Given the description of an element on the screen output the (x, y) to click on. 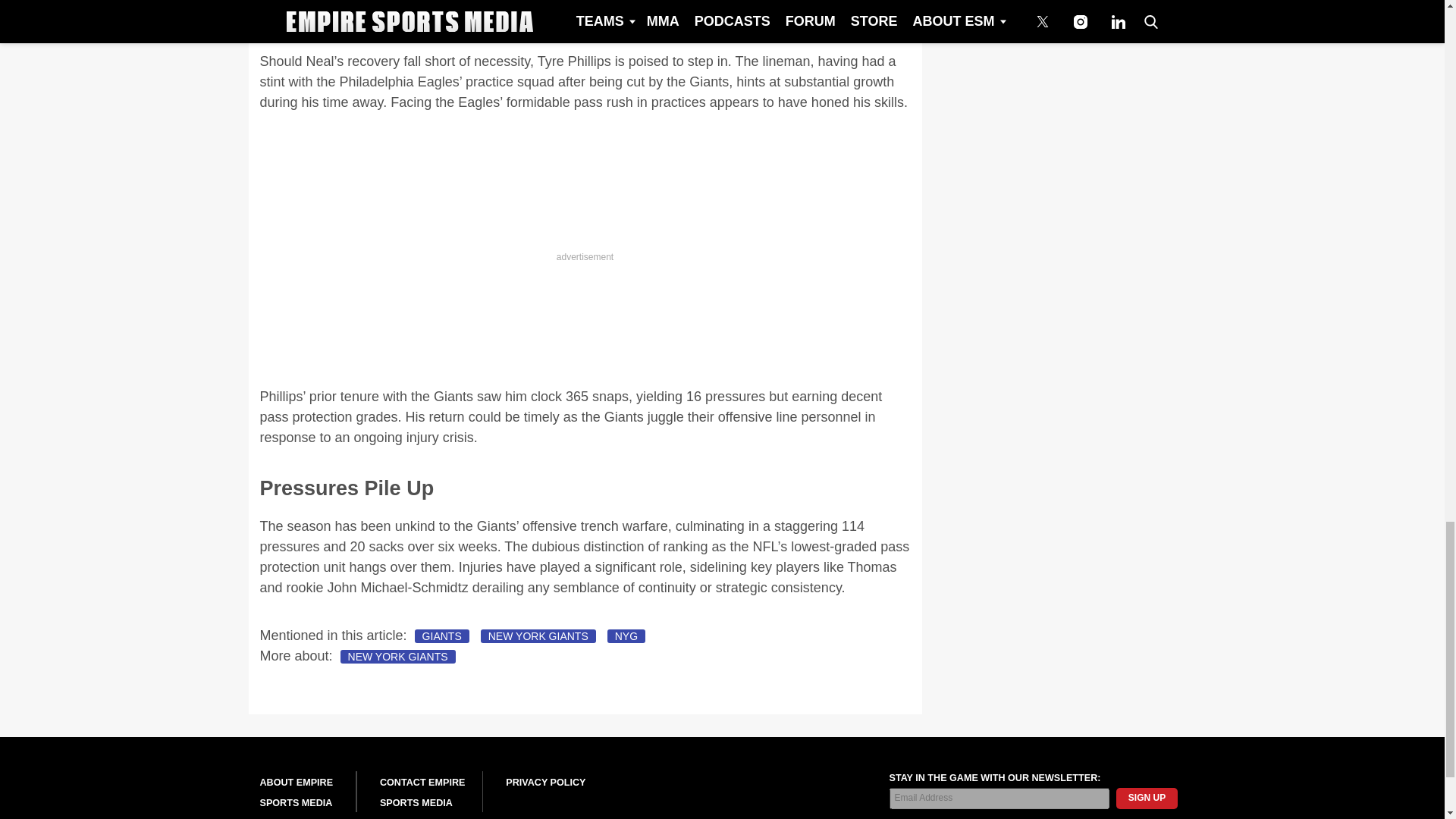
ABOUT EMPIRE SPORTS MEDIA (296, 792)
GIANTS (441, 635)
NEW YORK GIANTS (537, 635)
NYG (626, 635)
NEW YORK GIANTS (397, 656)
